Given the description of an element on the screen output the (x, y) to click on. 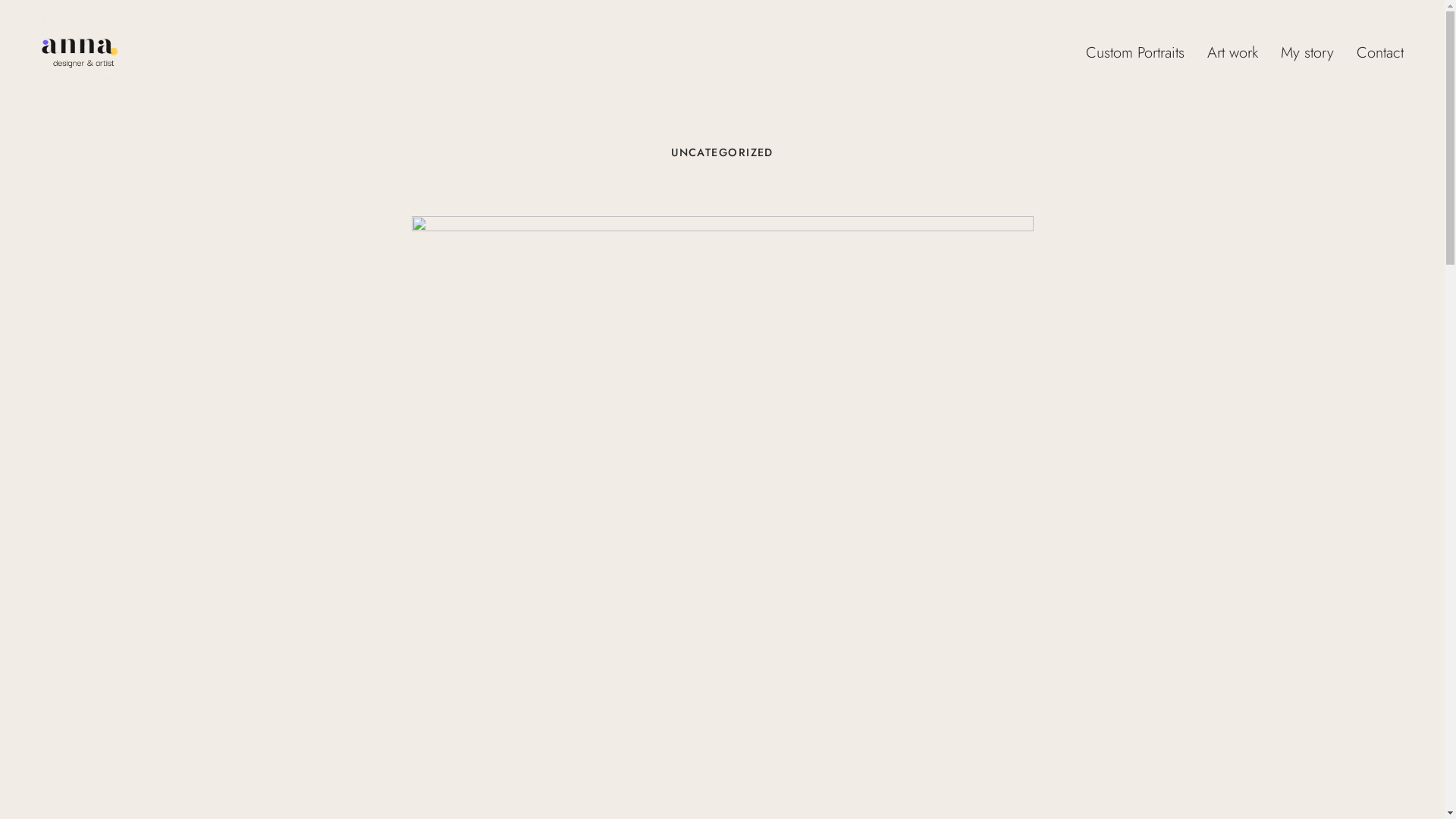
Custom Portraits Element type: text (1134, 52)
My story Element type: text (1306, 52)
Contact Element type: text (1379, 52)
UNCATEGORIZED Element type: text (722, 152)
Art work Element type: text (1232, 52)
